Given the description of an element on the screen output the (x, y) to click on. 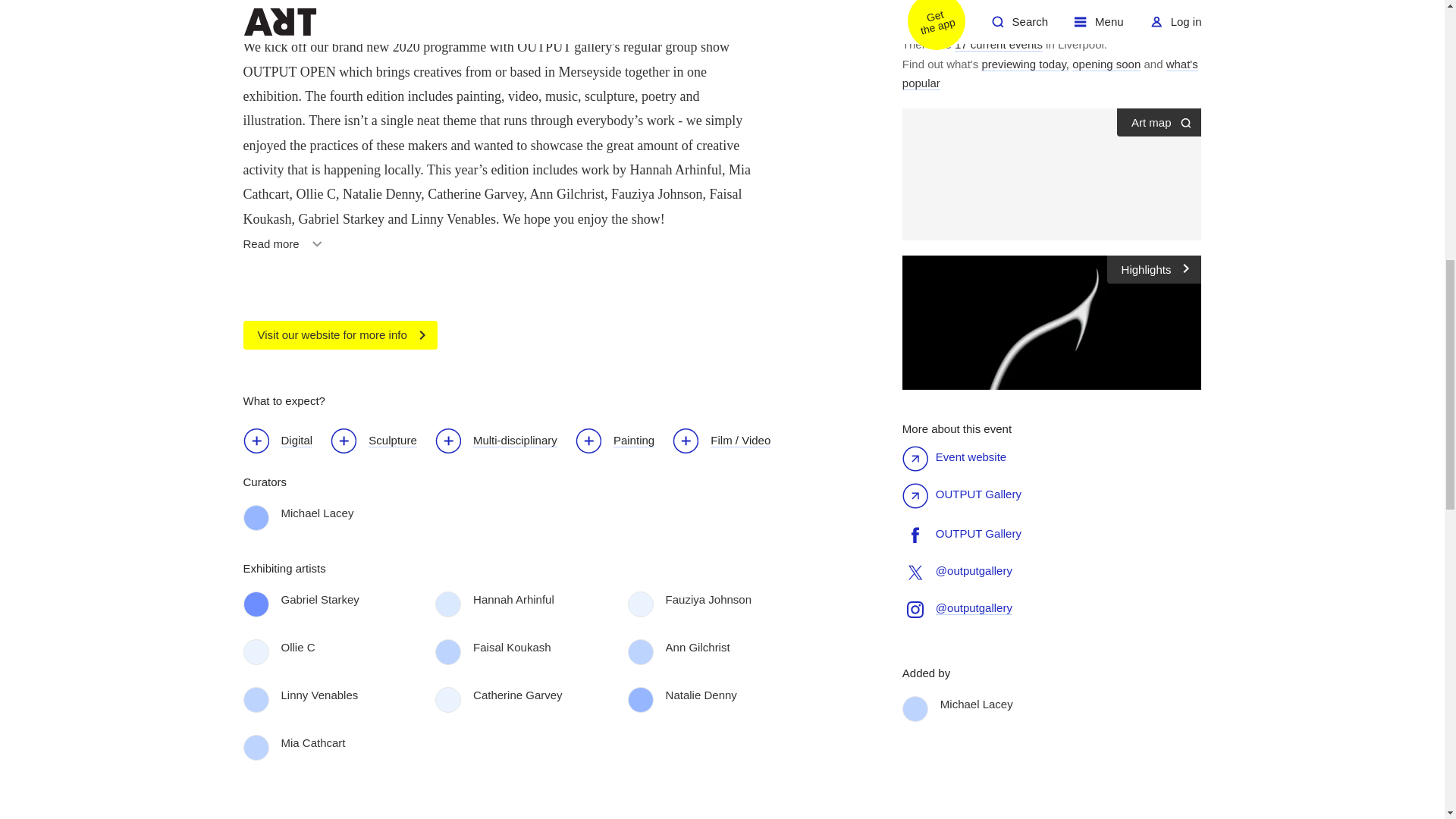
Visit our website for more info (339, 335)
Digital (286, 249)
